Given the description of an element on the screen output the (x, y) to click on. 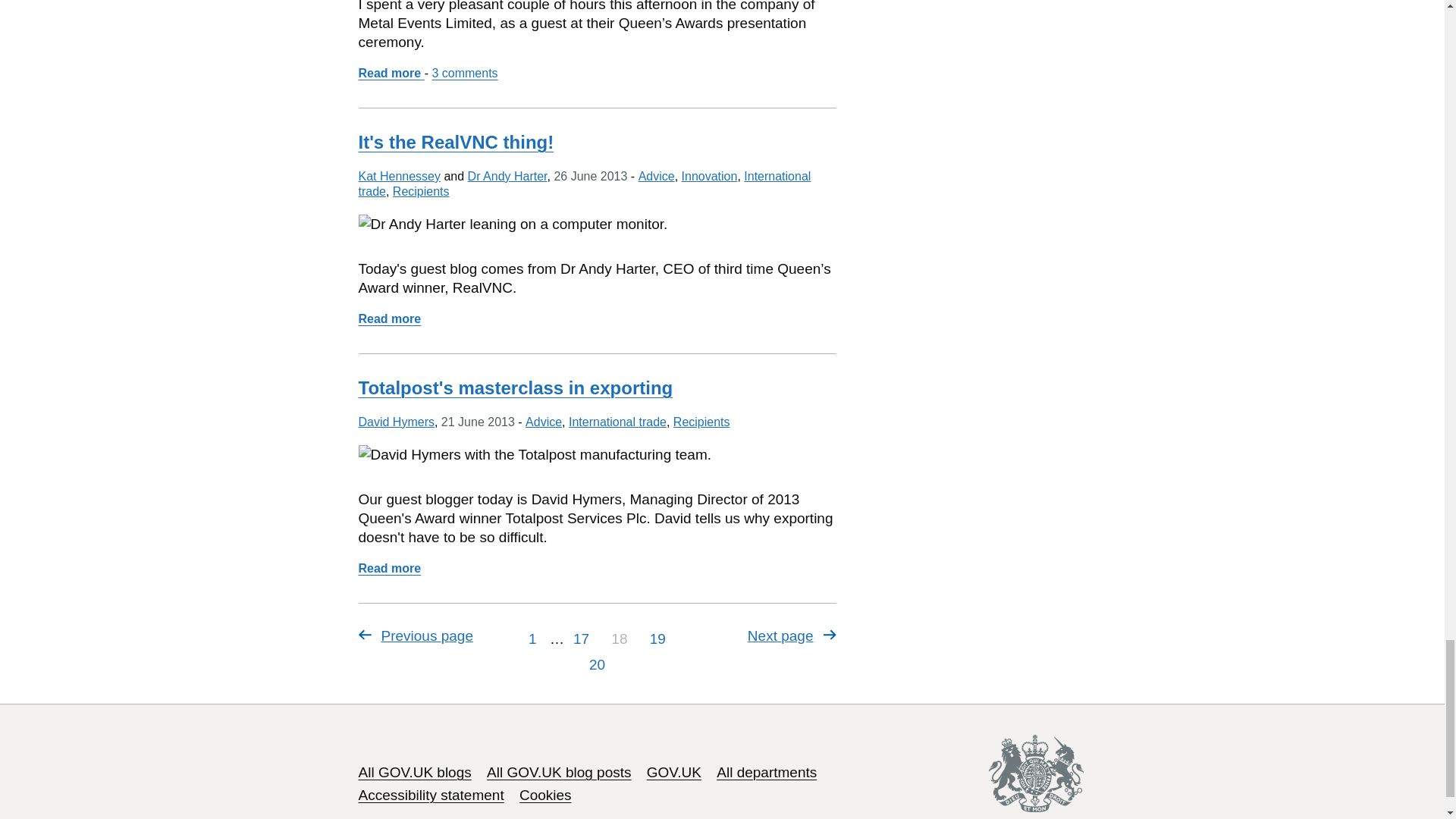
Posts by David Hymers (395, 421)
Posts by Dr Andy Harter (507, 175)
Posts by Kat Hennessey (399, 175)
